Given the description of an element on the screen output the (x, y) to click on. 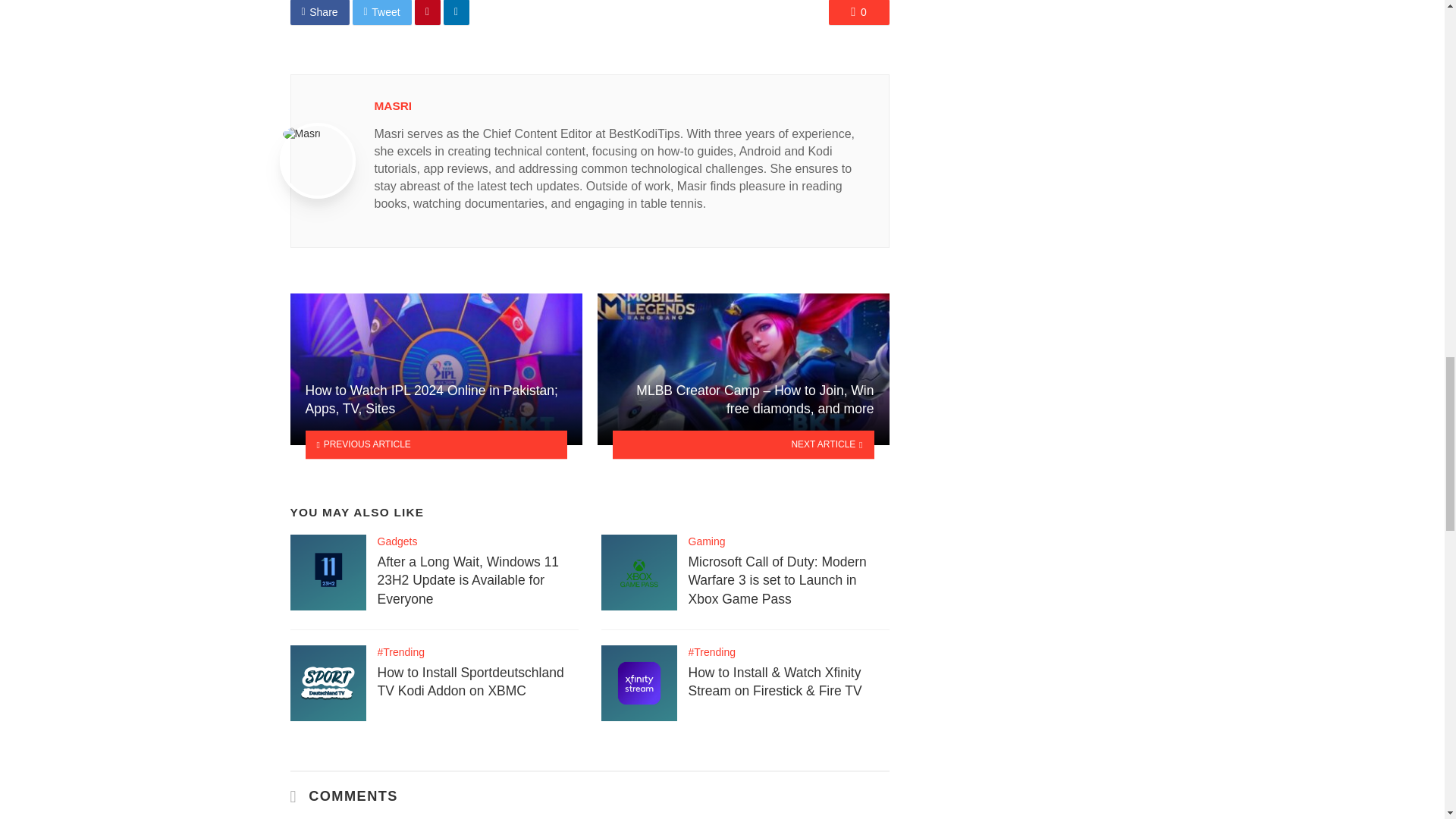
Posts by Masri (393, 105)
